Given the description of an element on the screen output the (x, y) to click on. 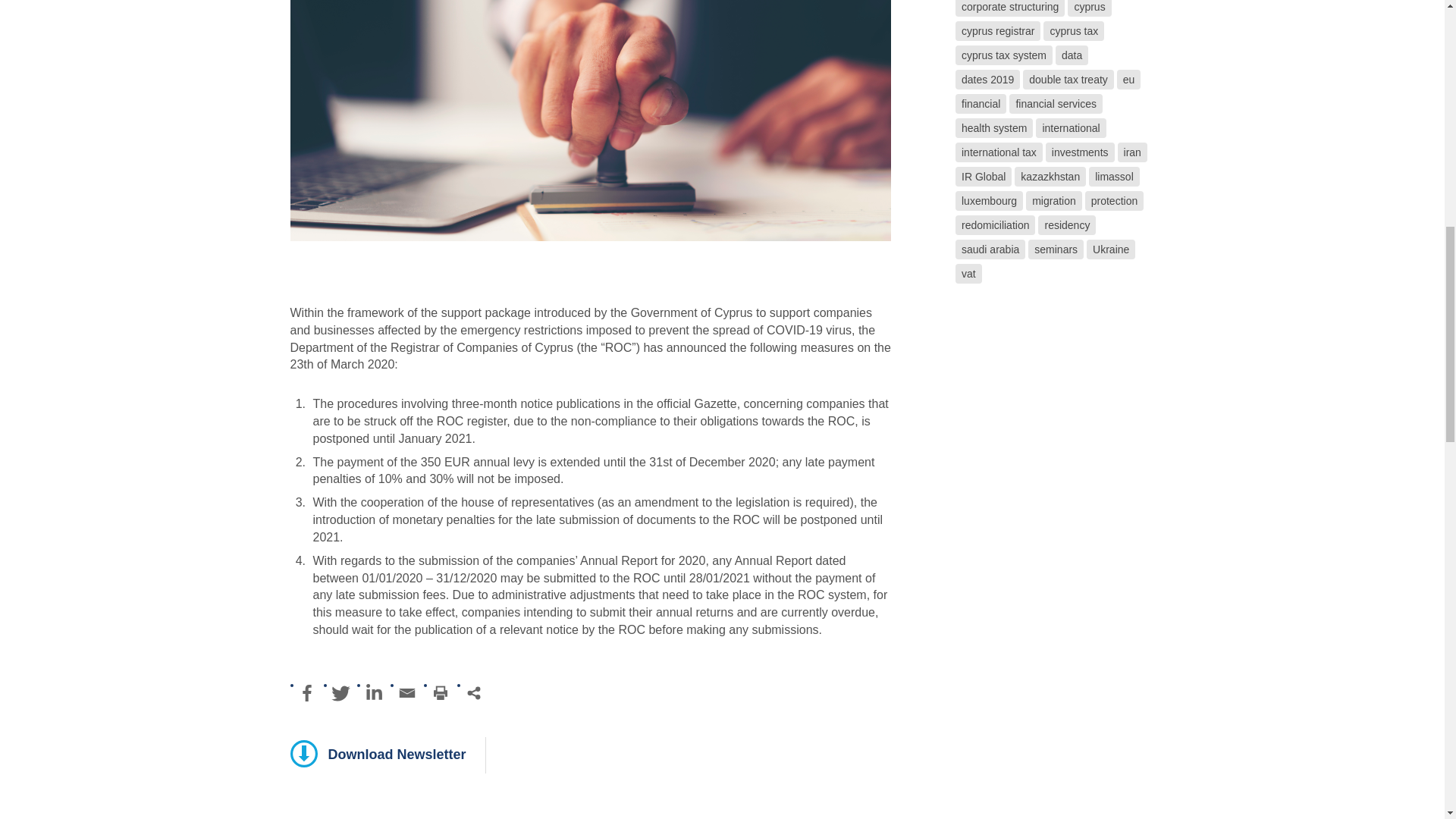
Twitter (339, 693)
Email (406, 693)
Print (439, 693)
Download Newsletter (377, 754)
More (472, 693)
Linkedin (373, 693)
Download Newsletter (377, 754)
Facebook (306, 693)
